Given the description of an element on the screen output the (x, y) to click on. 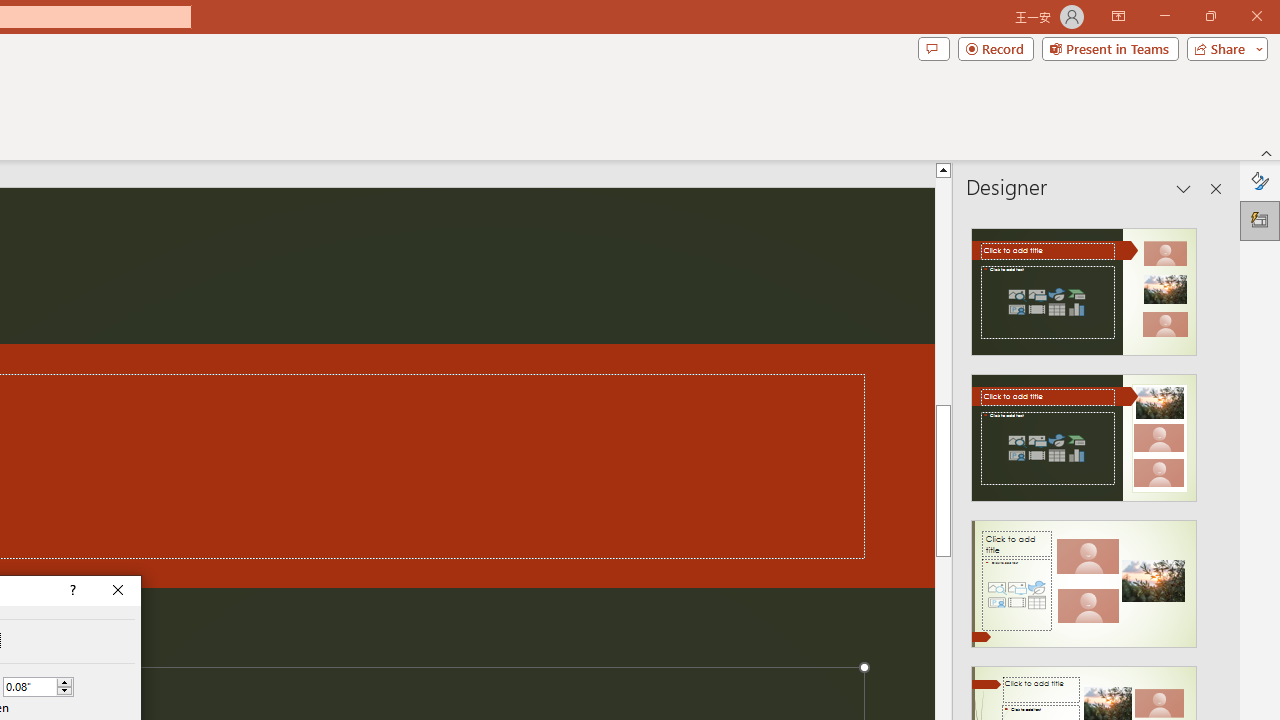
Context help (71, 591)
Recommended Design: Design Idea (1083, 286)
